Given the description of an element on the screen output the (x, y) to click on. 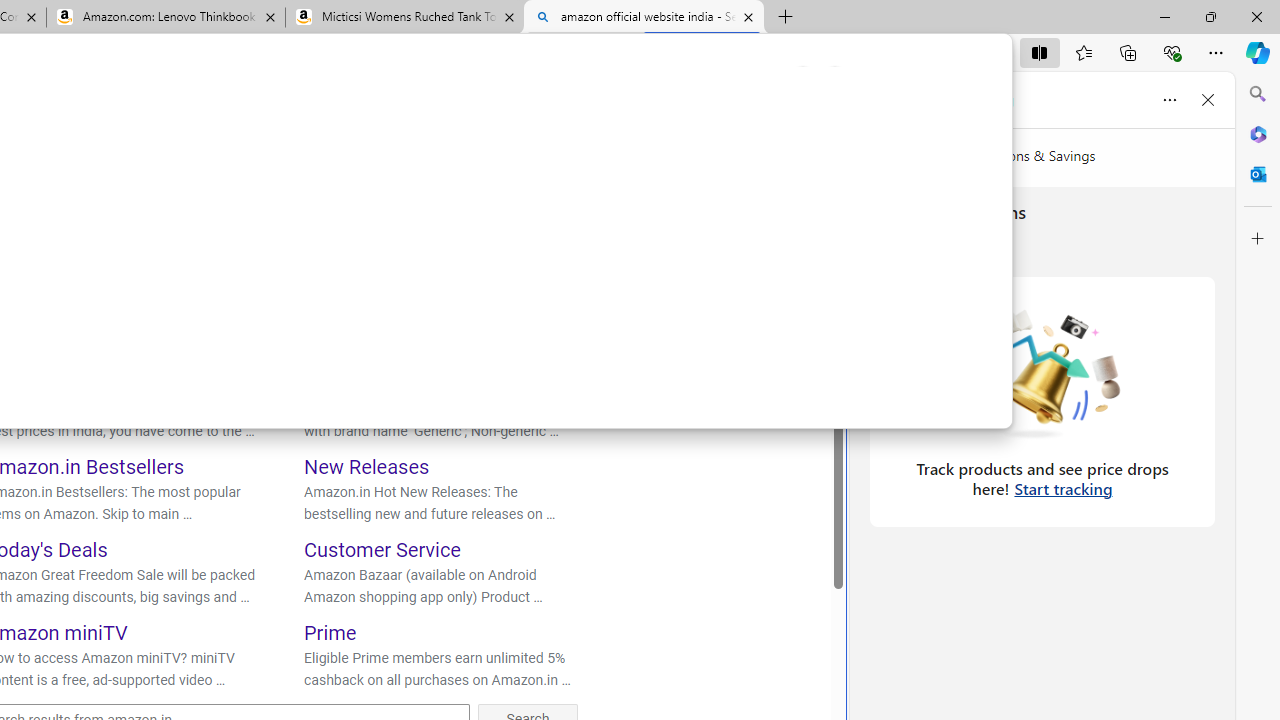
NEWS (400, 173)
More options. (803, 79)
Customer Service (382, 549)
amazon official website india - Search (643, 17)
COPILOT (95, 170)
Search using an image (572, 117)
New Releases (367, 466)
